Given the description of an element on the screen output the (x, y) to click on. 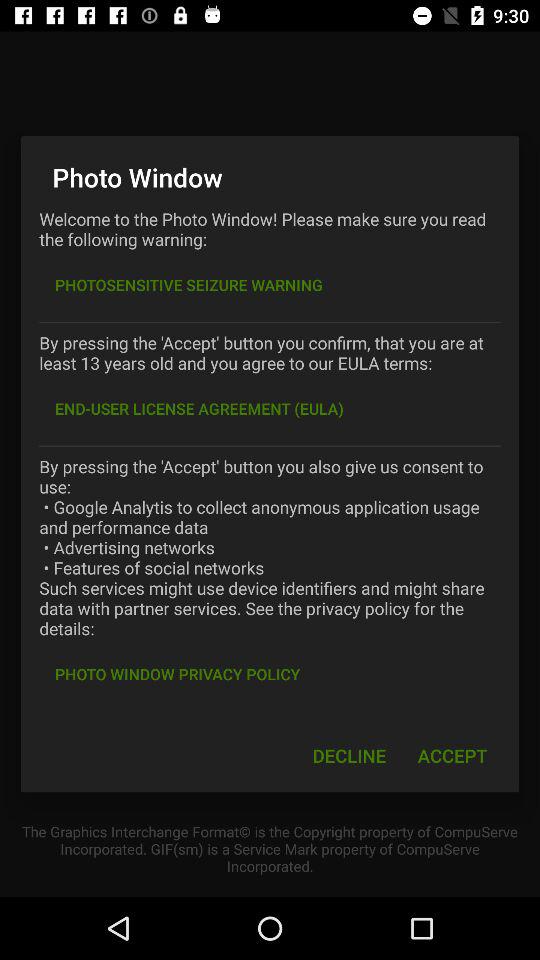
choose item to the left of the accept icon (349, 755)
